Given the description of an element on the screen output the (x, y) to click on. 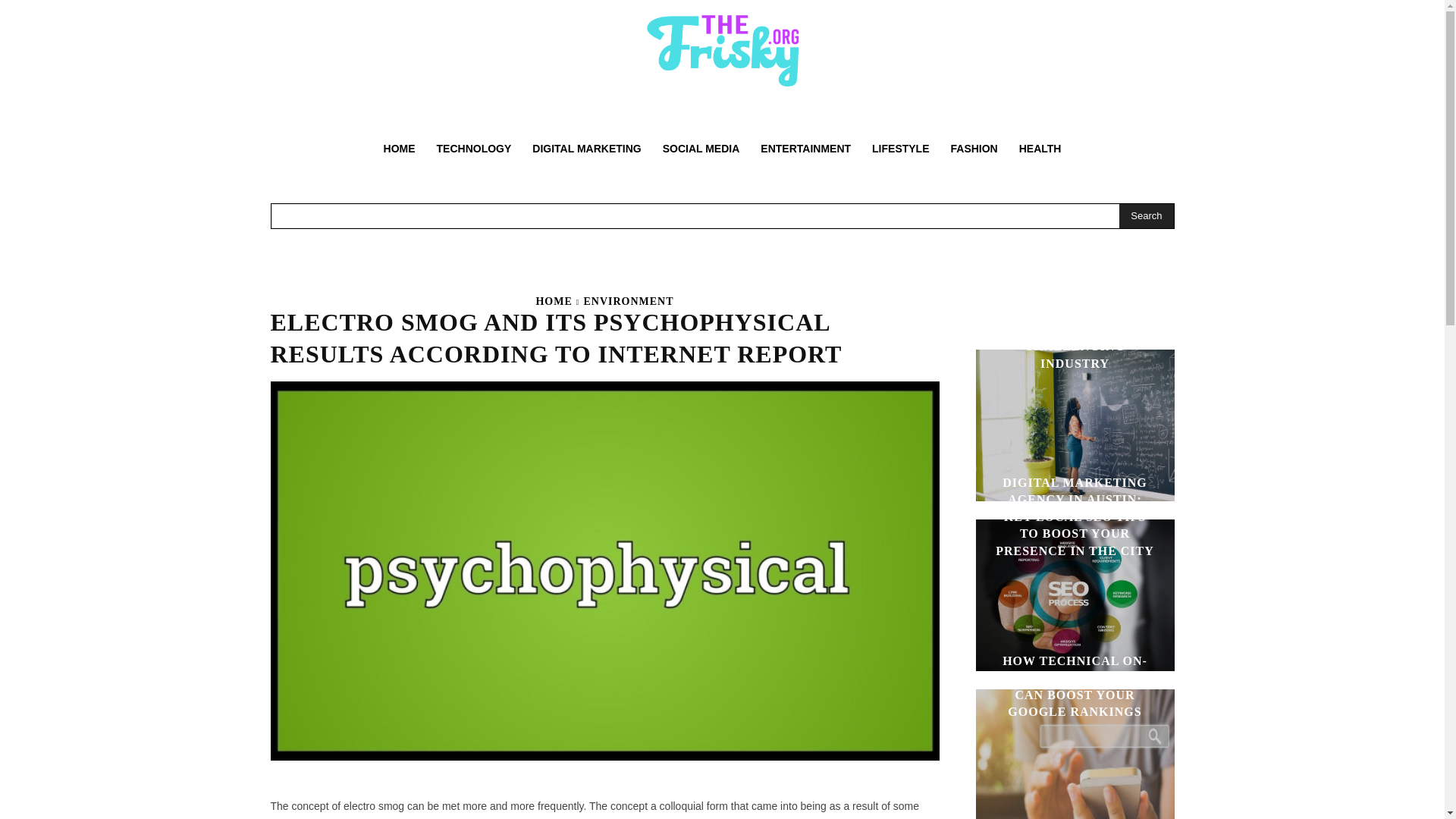
Search (1146, 215)
HEALTH (1040, 148)
DIGITAL MARKETING (585, 148)
ENVIRONMENT (627, 301)
A GROWING NEED IN A CHALLENGING INDUSTRY (1074, 346)
TECHNOLOGY (474, 148)
View all posts in Environment (627, 301)
SOCIAL MEDIA (701, 148)
HOME (553, 301)
LIFESTYLE (900, 148)
HOME (399, 148)
A Growing Need in a Challenging Industry (1074, 425)
ENTERTAINMENT (805, 148)
FASHION (974, 148)
